Given the description of an element on the screen output the (x, y) to click on. 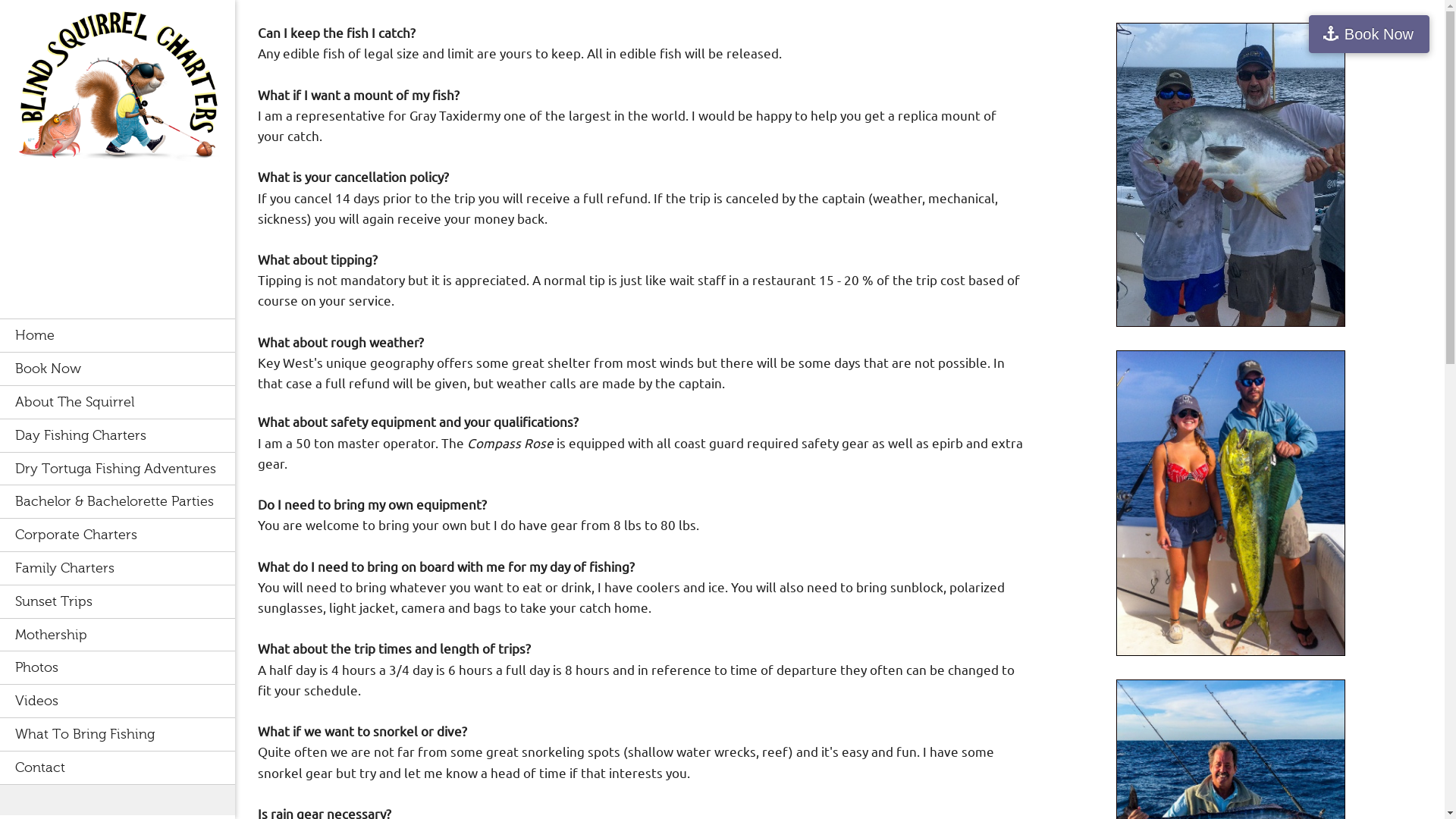
Book Now (117, 368)
Book Now (117, 368)
Home (117, 335)
Mothership (117, 634)
Sunset Trip (117, 601)
What To Bring Fishing (117, 734)
Corporate Charters (117, 534)
Mothership (117, 634)
Corporate Charters (117, 534)
Dry Tortuga Fishing Adventures (117, 468)
Sunset Trips (117, 601)
Photos (117, 666)
Contact (117, 767)
About The Squirrel (117, 401)
What To Bring Fishing (117, 734)
